Given the description of an element on the screen output the (x, y) to click on. 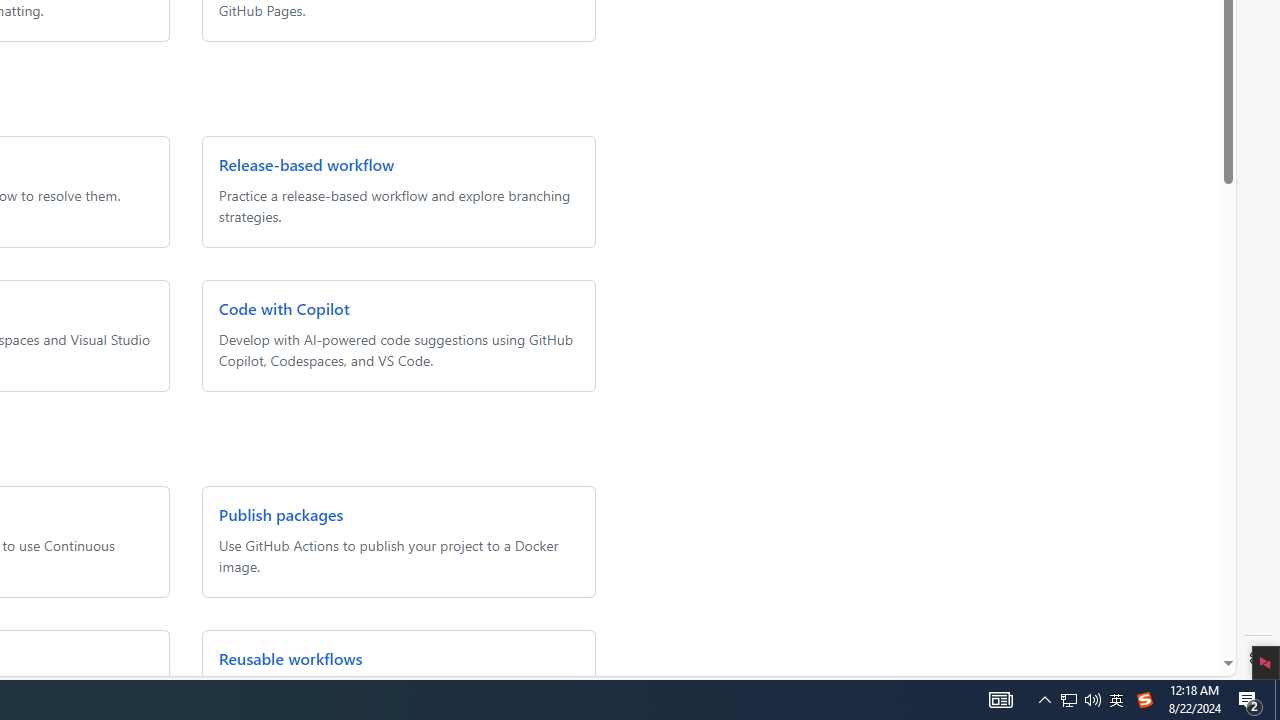
Publish packages (280, 513)
Reusable workflows (290, 658)
Release-based workflow (306, 164)
Code with Copilot (283, 308)
